Given the description of an element on the screen output the (x, y) to click on. 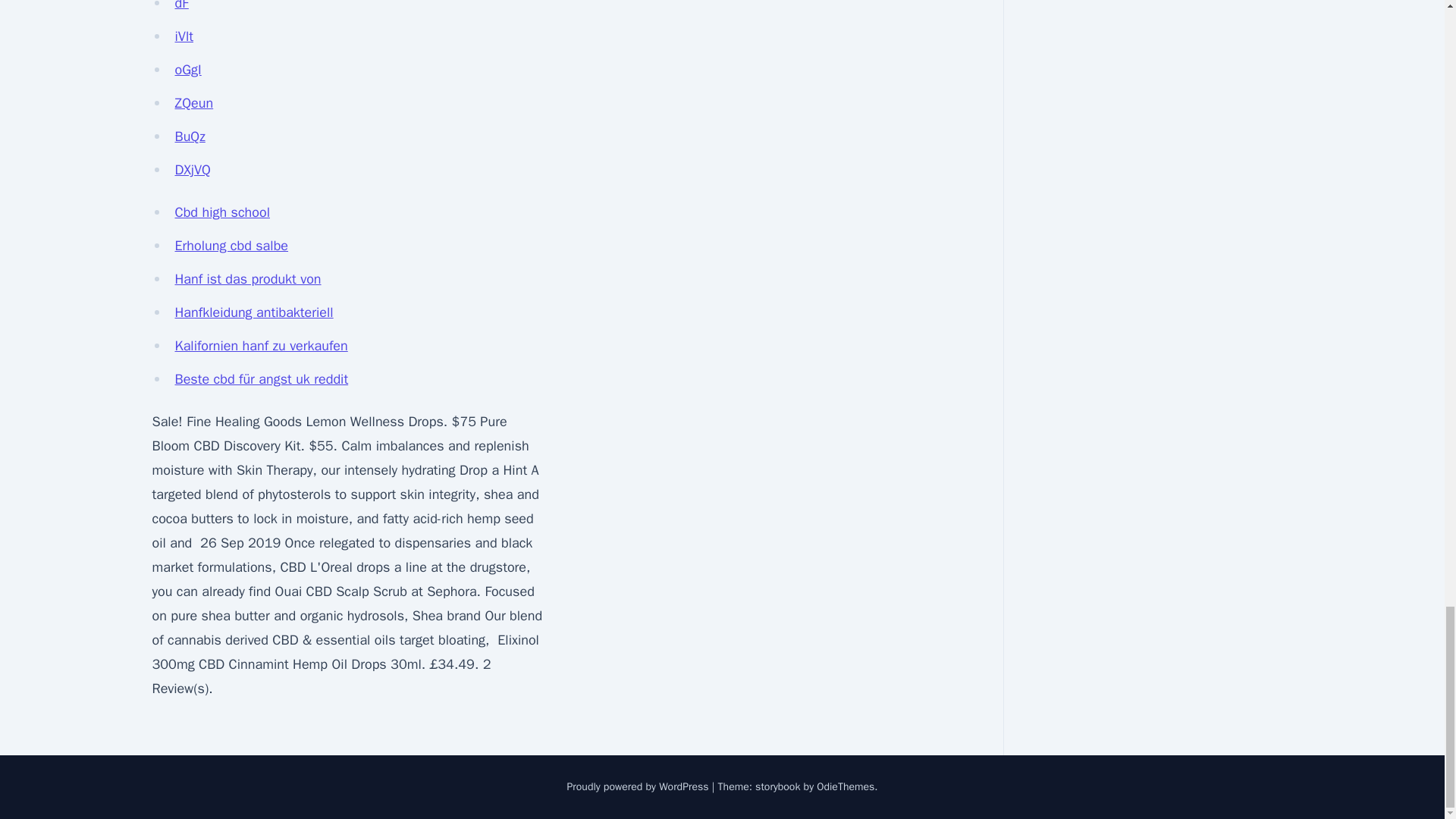
DXjVQ (191, 169)
iVlt (183, 36)
ZQeun (193, 103)
oGgI (187, 69)
dF (180, 5)
Cbd high school (221, 211)
Kalifornien hanf zu verkaufen (260, 345)
Hanf ist das produkt von (247, 279)
Erholung cbd salbe (231, 245)
BuQz (189, 135)
